Given the description of an element on the screen output the (x, y) to click on. 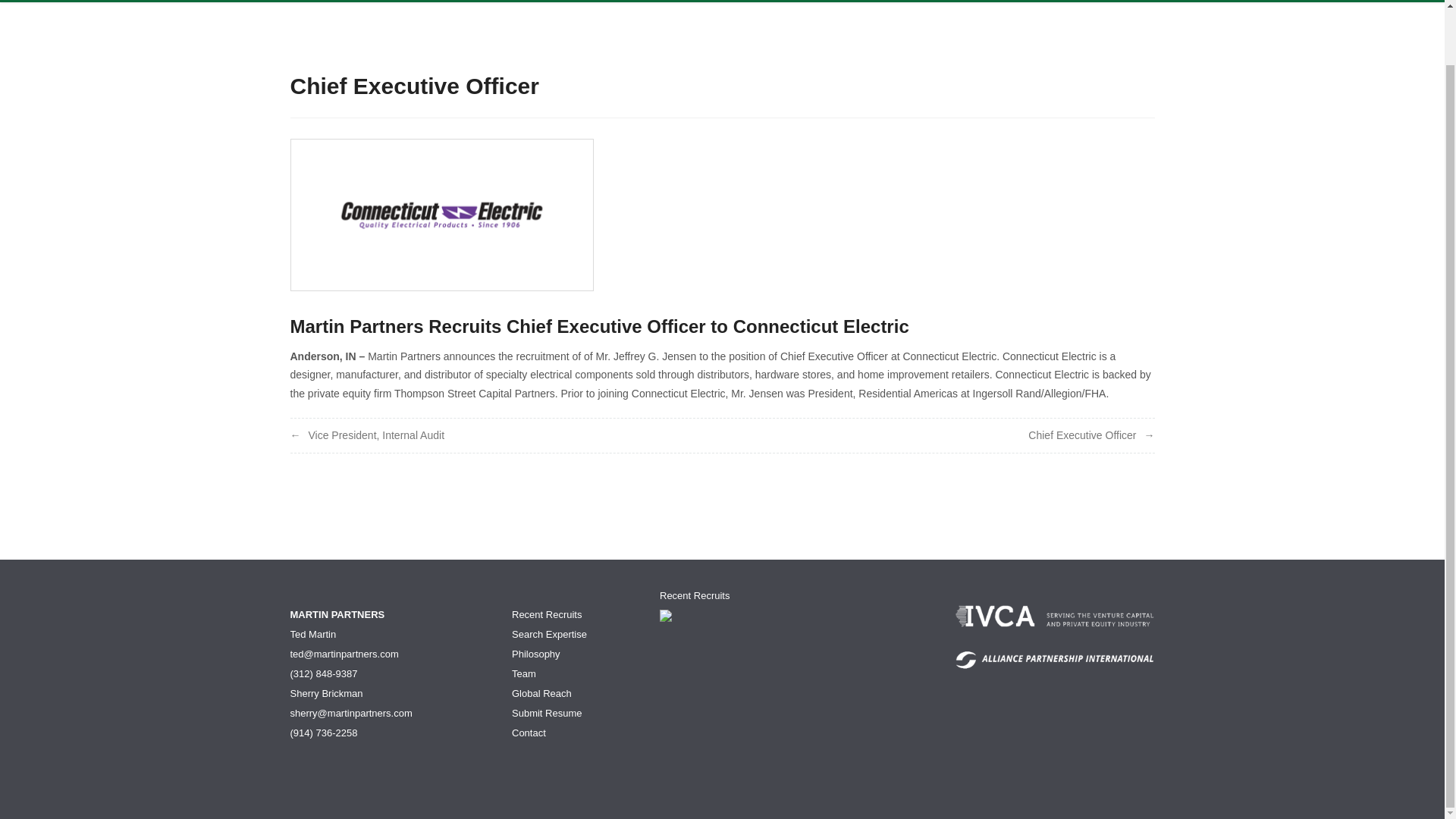
PHILOSOPHY (782, 1)
Search Expertise (549, 633)
SUBMIT RESUME (1017, 1)
Submit Resume (546, 713)
SEARCH EXPERTISE (684, 1)
Global Reach (542, 693)
Recent Recruits (546, 614)
GLOBAL REACH (920, 1)
Philosophy (536, 654)
Recent Recruits (694, 595)
